Given the description of an element on the screen output the (x, y) to click on. 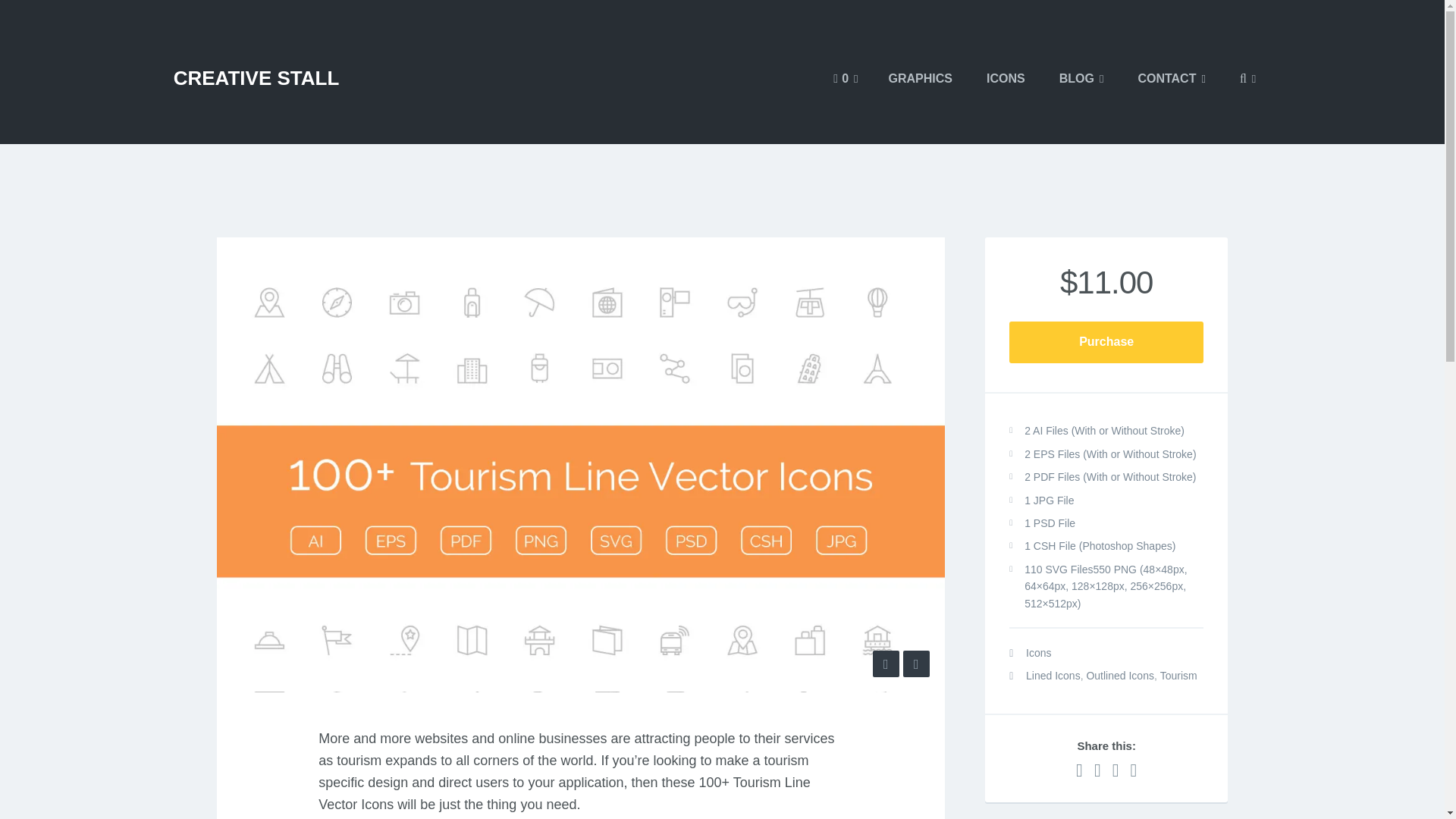
0 (845, 78)
BLOG (1081, 78)
Lined Icons (1053, 675)
Tourism (1178, 675)
Outlined Icons (1120, 675)
Search (33, 15)
Purchase (96, 20)
Previous (885, 663)
Creative Stall (256, 77)
CREATIVE STALL (256, 77)
Purchase (1106, 341)
CONTACT (1171, 78)
Next (916, 663)
ICONS (1006, 78)
Icons (1038, 652)
